Given the description of an element on the screen output the (x, y) to click on. 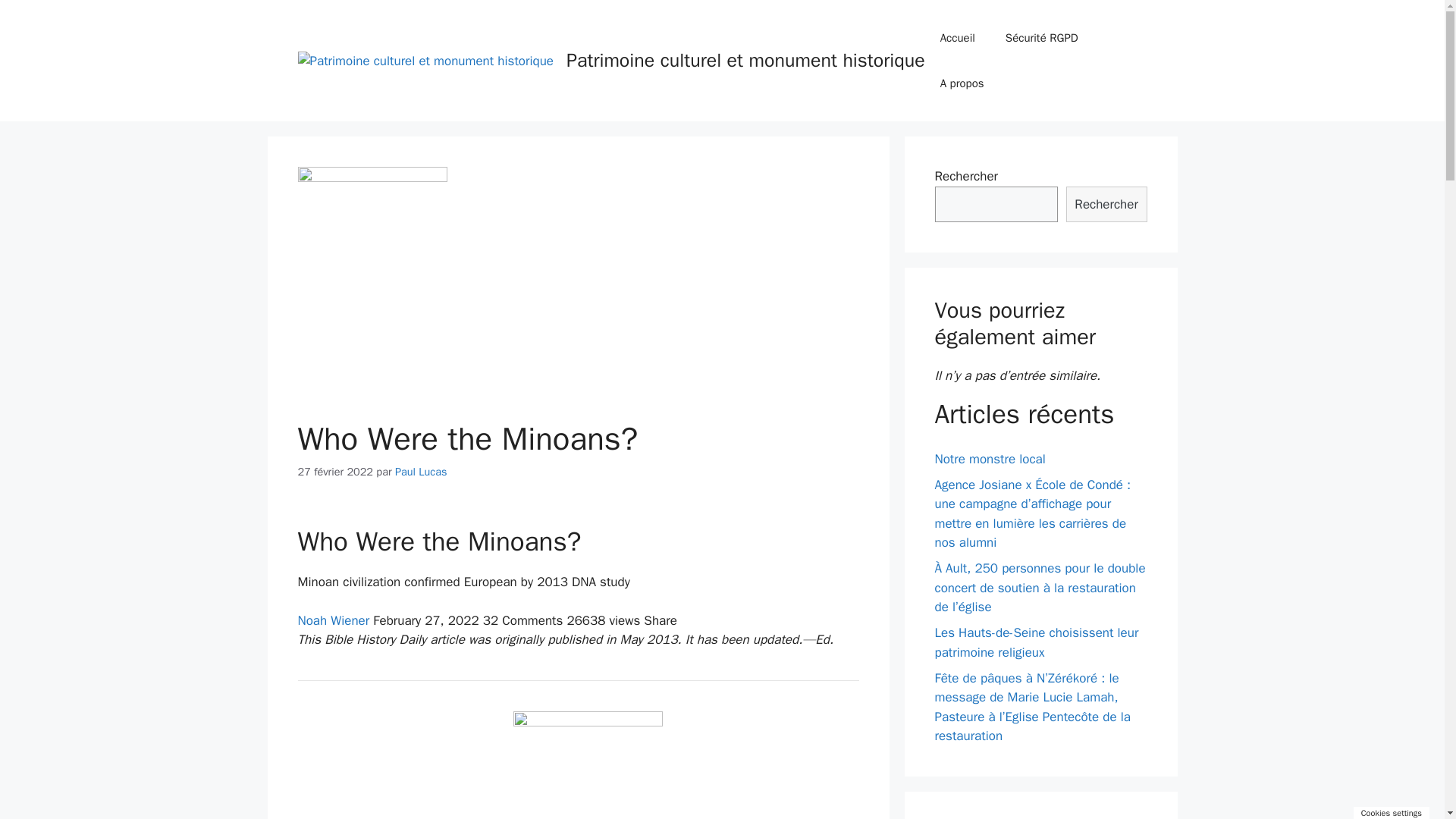
A propos (961, 83)
Notre monstre local (989, 458)
Noah Wiener (333, 620)
minoan (587, 765)
Patrimoine culturel et monument historique (425, 59)
Les Hauts-de-Seine choisissent leur patrimoine religieux (1036, 642)
Paul Lucas (420, 471)
Afficher tous les articles de Paul Lucas (420, 471)
Patrimoine culturel et monument historique (425, 61)
Rechercher (1106, 204)
Accueil (957, 37)
Patrimoine culturel et monument historique (745, 60)
